Given the description of an element on the screen output the (x, y) to click on. 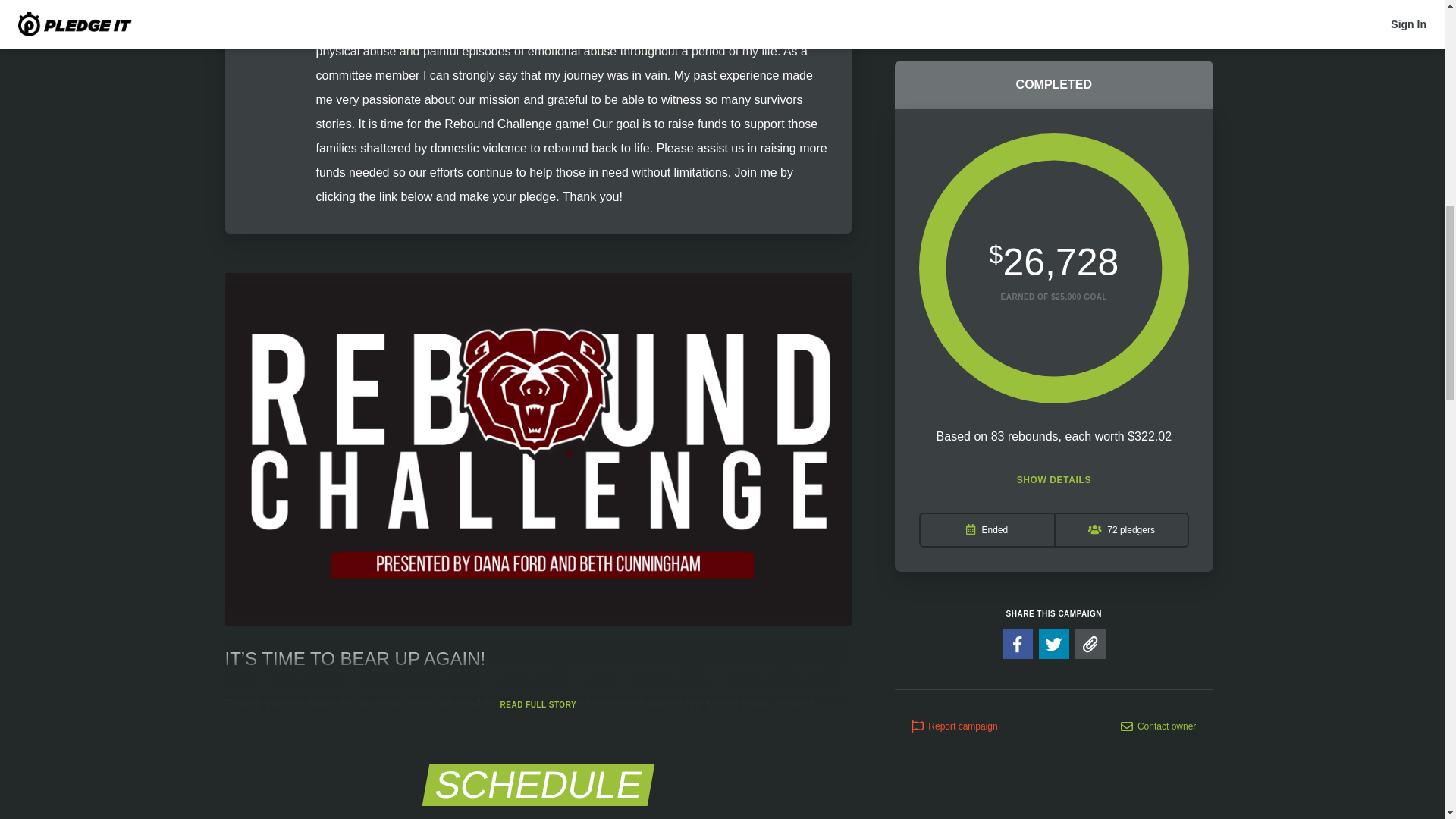
SHOW DETAILS (1053, 255)
Report campaign (954, 501)
READ FULL STORY (538, 705)
Contact owner (1158, 501)
